Given the description of an element on the screen output the (x, y) to click on. 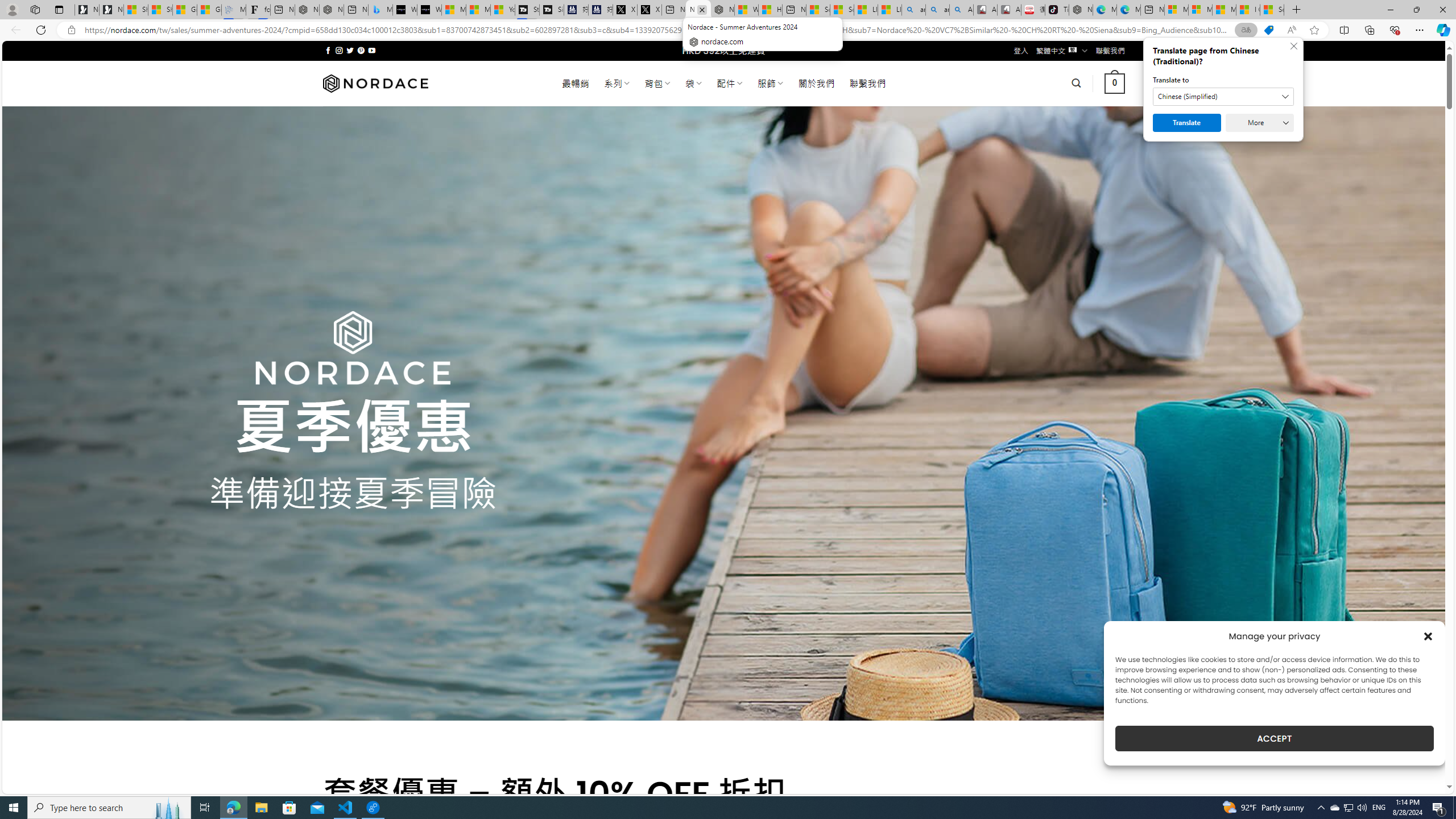
Newsletter Sign Up (111, 9)
All Cubot phones (1009, 9)
amazon - Search Images (936, 9)
Huge shark washes ashore at New York City beach | Watch (770, 9)
